Given the description of an element on the screen output the (x, y) to click on. 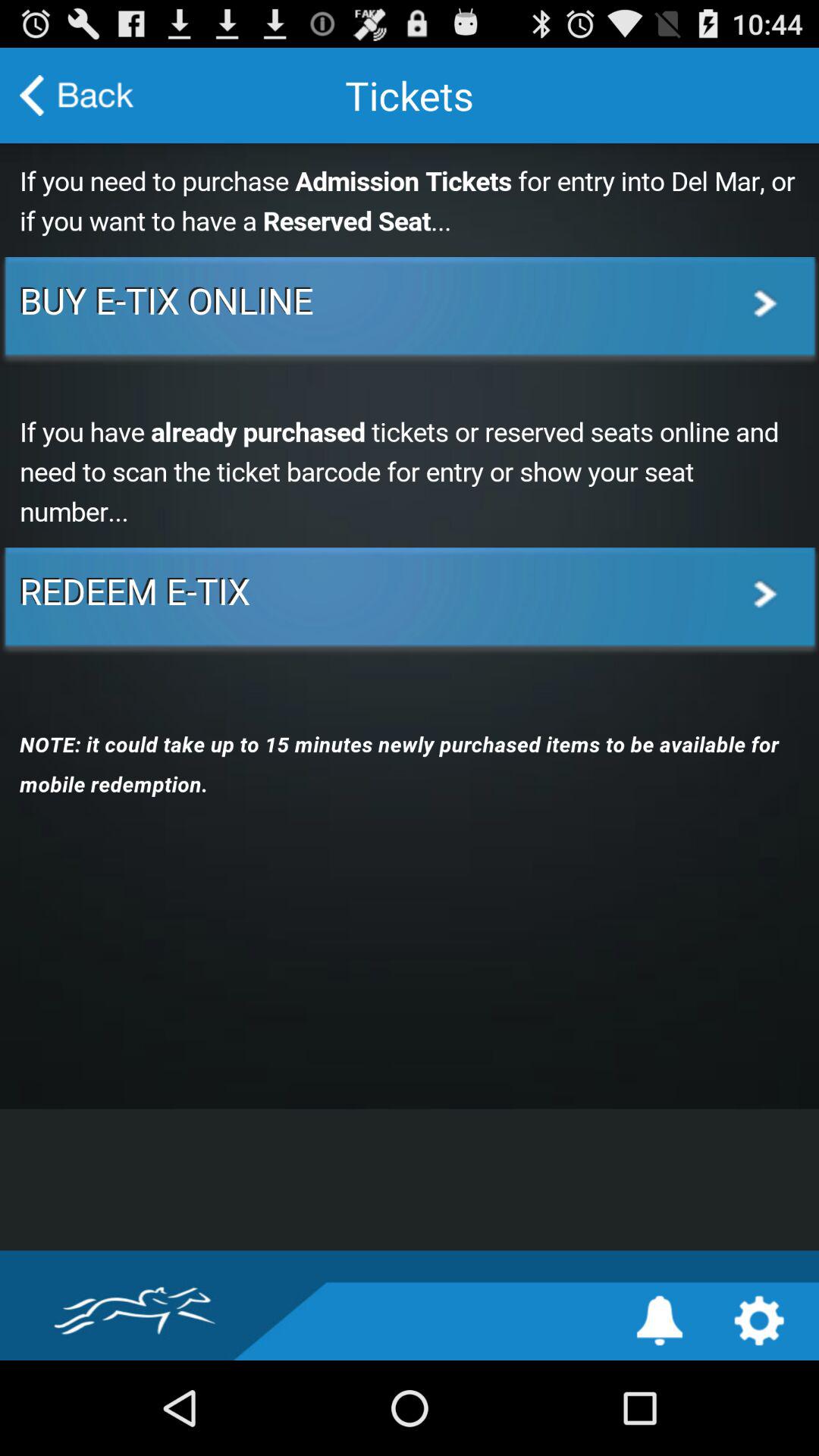
settings (759, 1320)
